Given the description of an element on the screen output the (x, y) to click on. 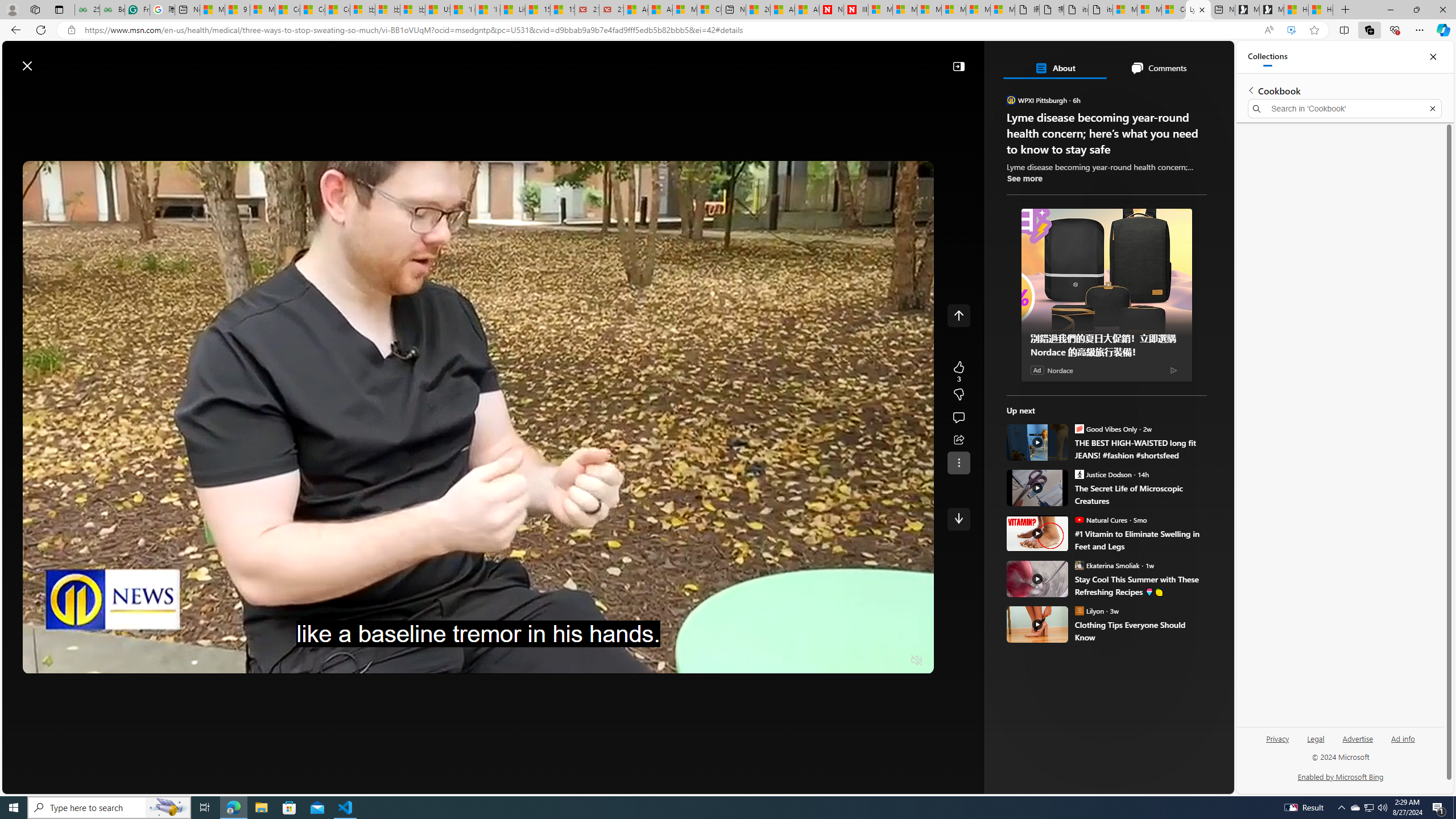
20 Ways to Boost Your Protein Intake at Every Meal (757, 9)
Lilyon Lilyon (1089, 610)
21 Movies That Outdid the Books They Were Based On (611, 9)
Natural Cures Natural Cures (1101, 519)
Microsoft rewards (1162, 60)
Clothing Tips Everyone Should Know (1140, 631)
Ad (1037, 370)
Class: button-glyph (182, 92)
Lilyon (1079, 610)
